Given the description of an element on the screen output the (x, y) to click on. 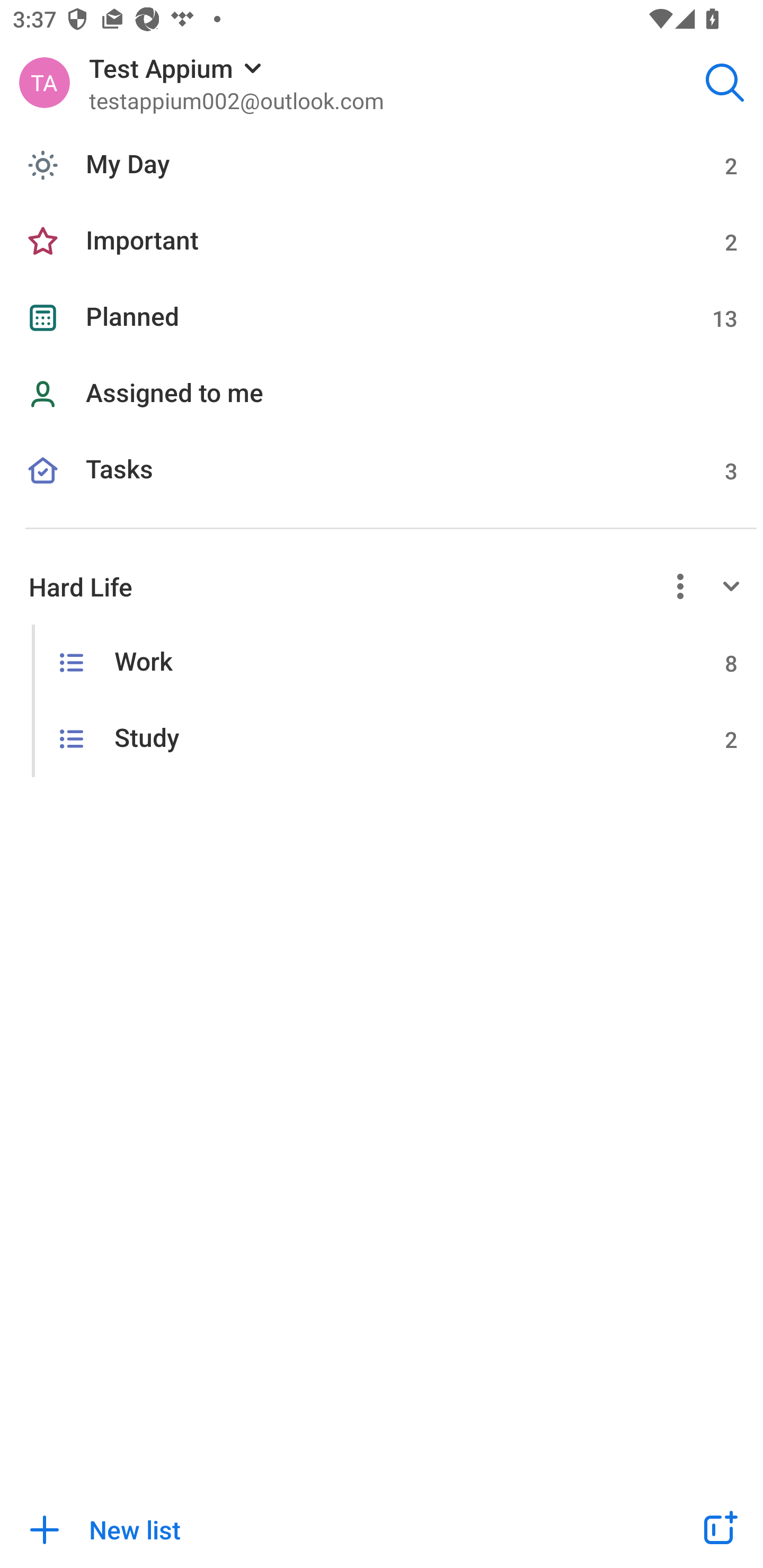
Study, 2 tasks Study 2 (381, 738)
